Given the description of an element on the screen output the (x, y) to click on. 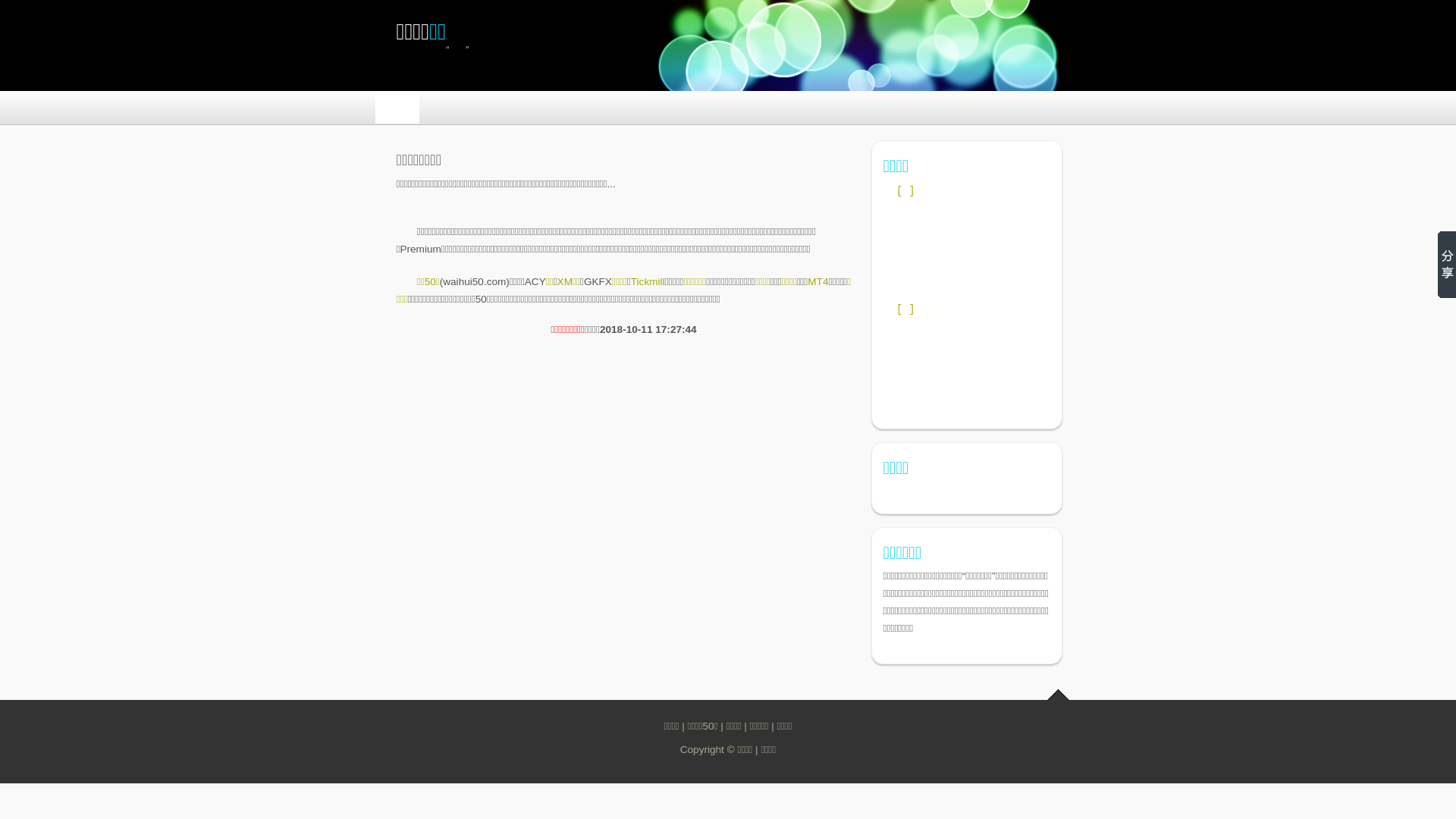
Scroll to the top Element type: hover (1058, 694)
MT4 Element type: text (817, 281)
Tickmill Element type: text (647, 281)
